Given the description of an element on the screen output the (x, y) to click on. 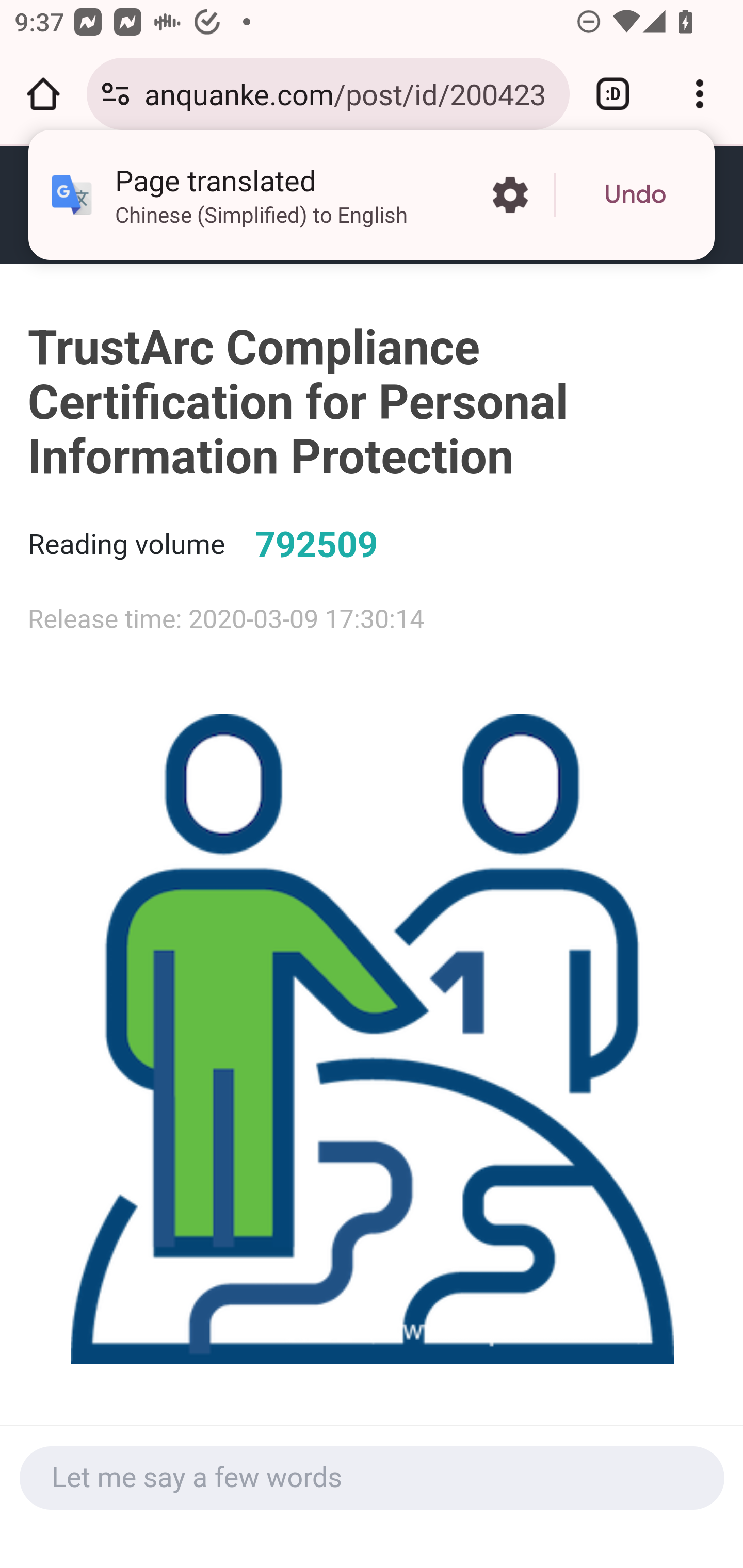
Open the home page (43, 93)
Connection is secure (115, 93)
Switch or close tabs (612, 93)
Customize and control Google Chrome (699, 93)
anquanke.com/post/id/200423 (349, 92)
Undo (634, 195)
More options in the Page translated (509, 195)
